Given the description of an element on the screen output the (x, y) to click on. 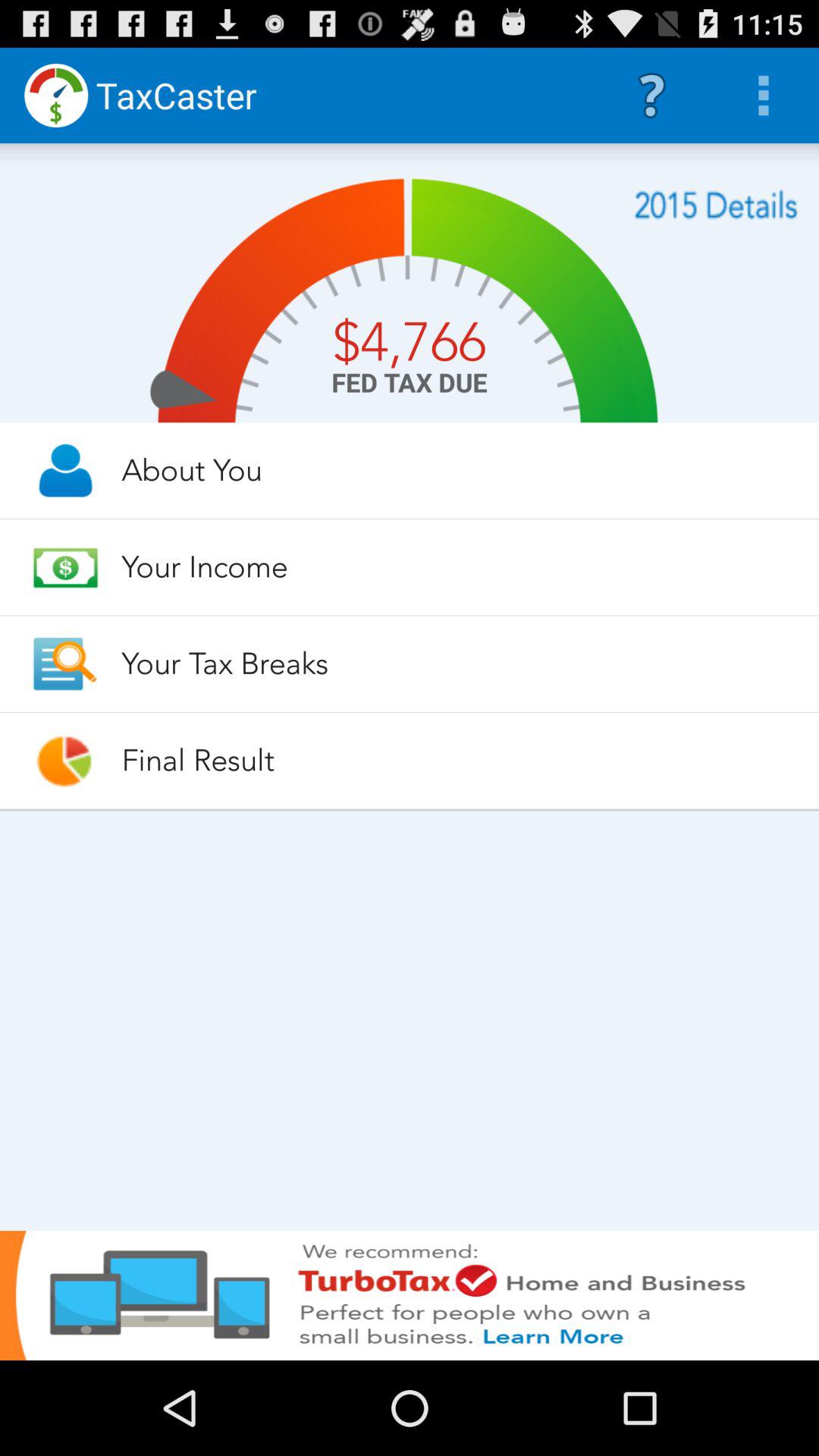
view 2015 financial information (715, 204)
